Given the description of an element on the screen output the (x, y) to click on. 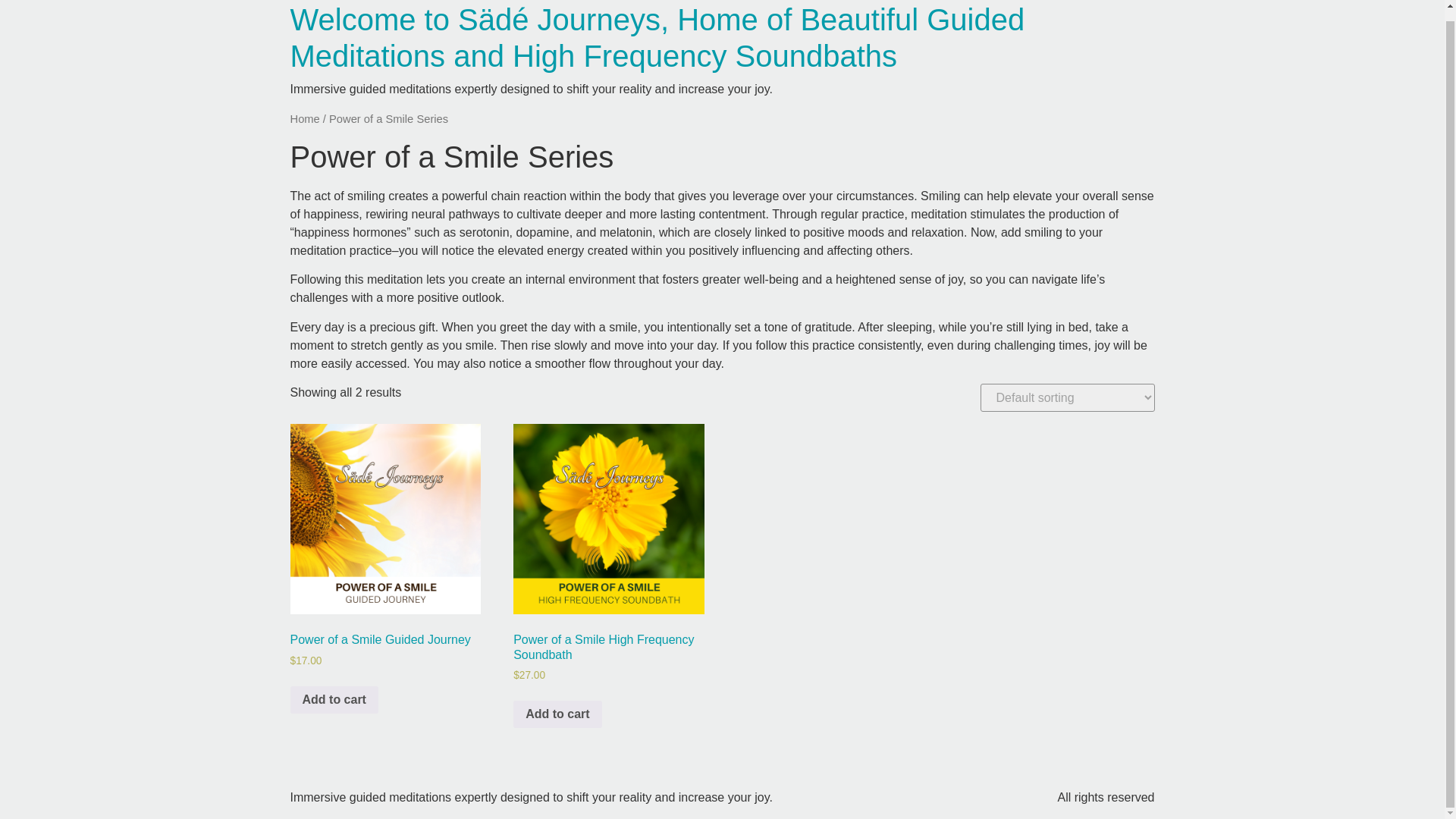
Add to cart (333, 699)
Power of a Smile Guided Journey (384, 519)
Power of a Smile High Frequency Soundbath (608, 519)
Home (303, 119)
Home (657, 37)
Add to cart (557, 714)
